Given the description of an element on the screen output the (x, y) to click on. 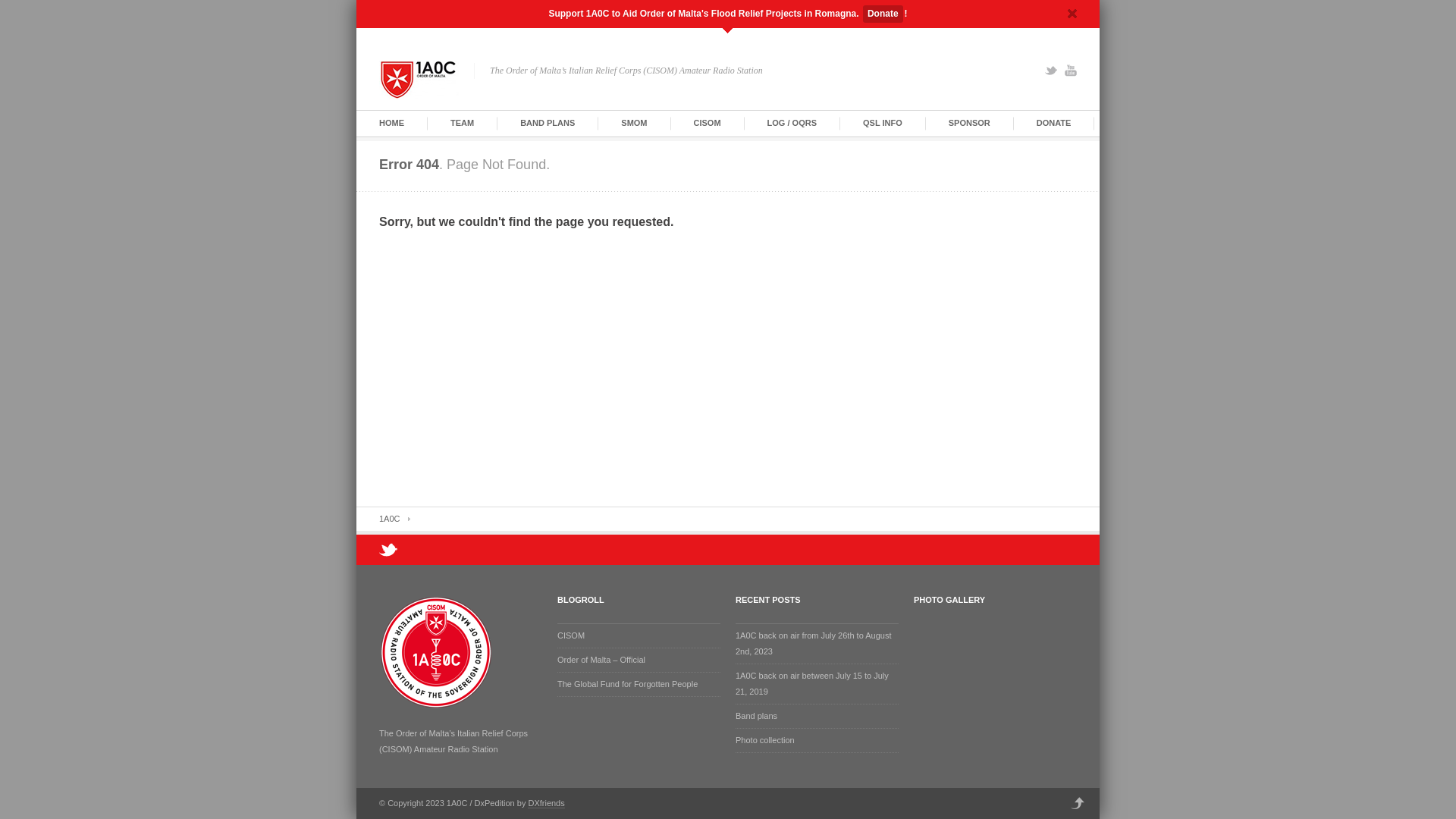
CISOM Element type: text (707, 122)
1A0C back on air from July 26th to August 2nd, 2023 Element type: text (813, 642)
Band plans Element type: text (756, 715)
Twitter Element type: text (1050, 70)
LOG / OQRS Element type: text (791, 122)
SMOM Element type: text (633, 122)
DXfriends Element type: text (545, 803)
1A0C back on air between July 15 to July 21, 2019 Element type: text (811, 683)
YouTube Element type: text (1070, 70)
Donate Element type: text (882, 13)
TEAM Element type: text (461, 122)
SPONSOR Element type: text (969, 122)
Photo collection Element type: text (764, 739)
QSL INFO Element type: text (882, 122)
DONATE Element type: text (1053, 122)
The Global Fund for Forgotten People Element type: text (627, 683)
CISOM Element type: text (570, 635)
1A0C Element type: text (394, 518)
HOME Element type: text (391, 122)
BAND PLANS Element type: text (547, 122)
